Given the description of an element on the screen output the (x, y) to click on. 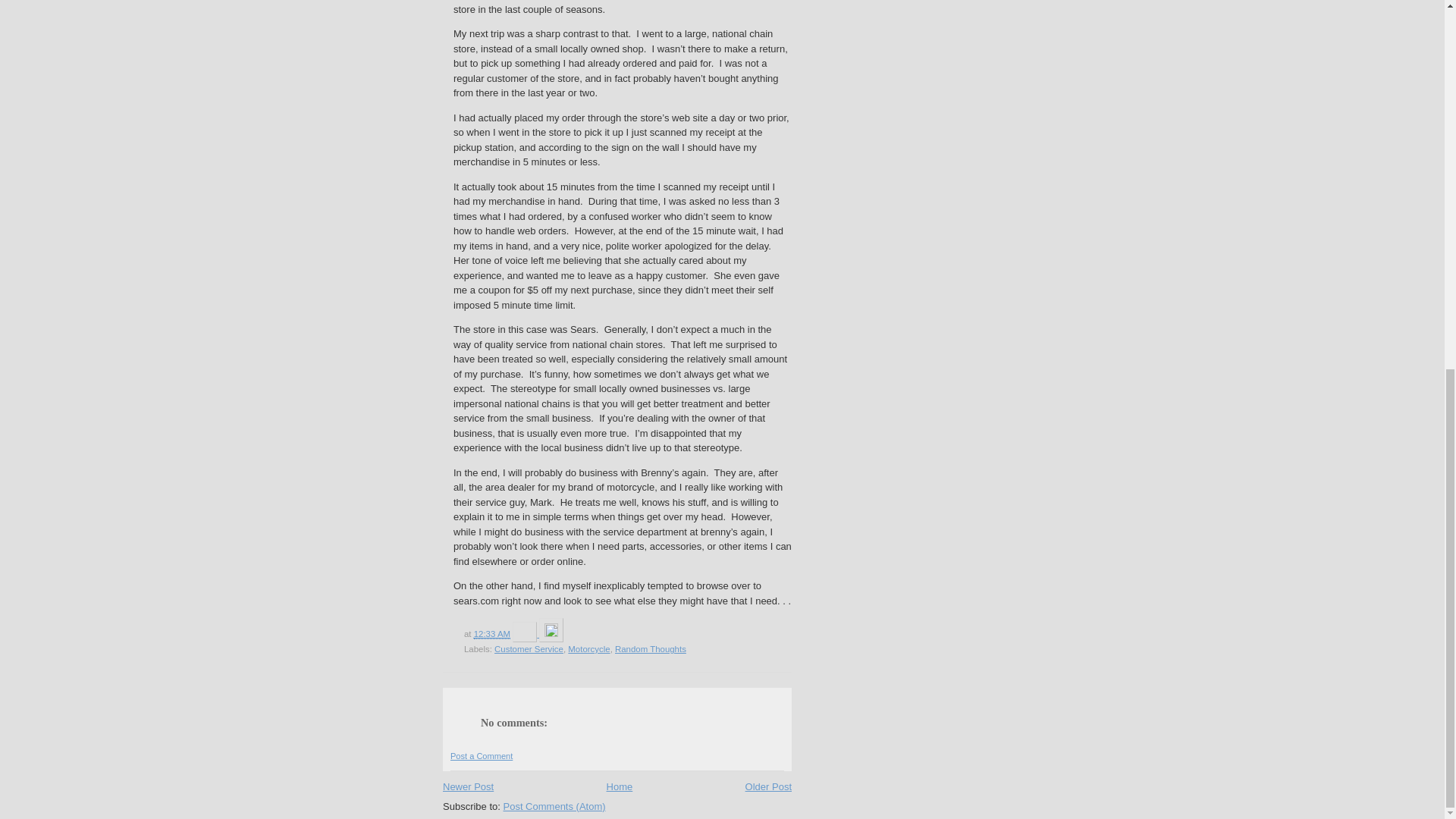
Home (620, 786)
Post a Comment (480, 755)
Motorcycle (588, 648)
Customer Service (529, 648)
Newer Post (467, 786)
Older Post (768, 786)
Email Post (525, 633)
Edit Post (550, 633)
Newer Post (467, 786)
Random Thoughts (649, 648)
